Given the description of an element on the screen output the (x, y) to click on. 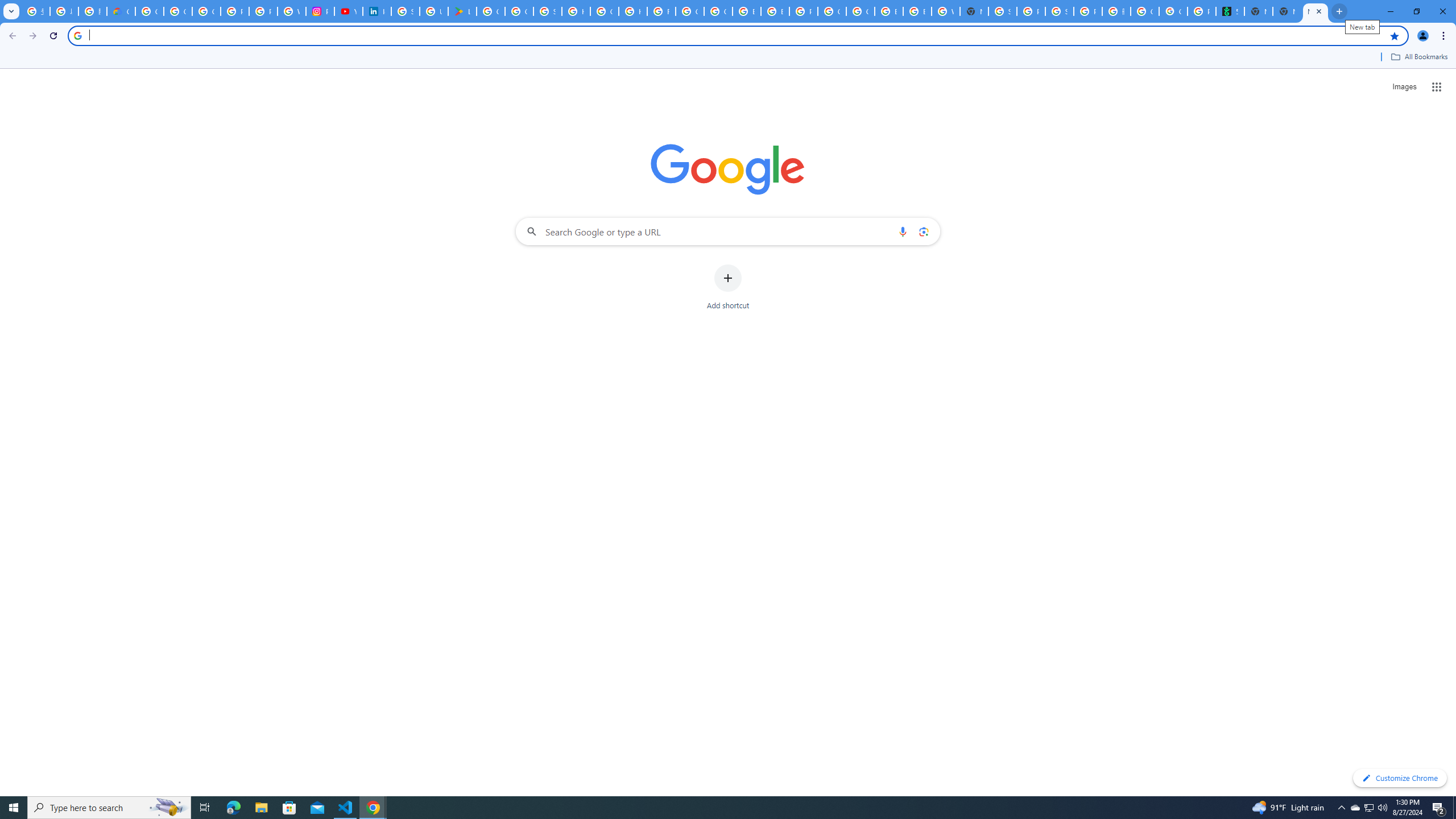
Google Workspace - Specific Terms (518, 11)
Browse Chrome as a guest - Computer - Google Chrome Help (746, 11)
New Tab (973, 11)
